Given the description of an element on the screen output the (x, y) to click on. 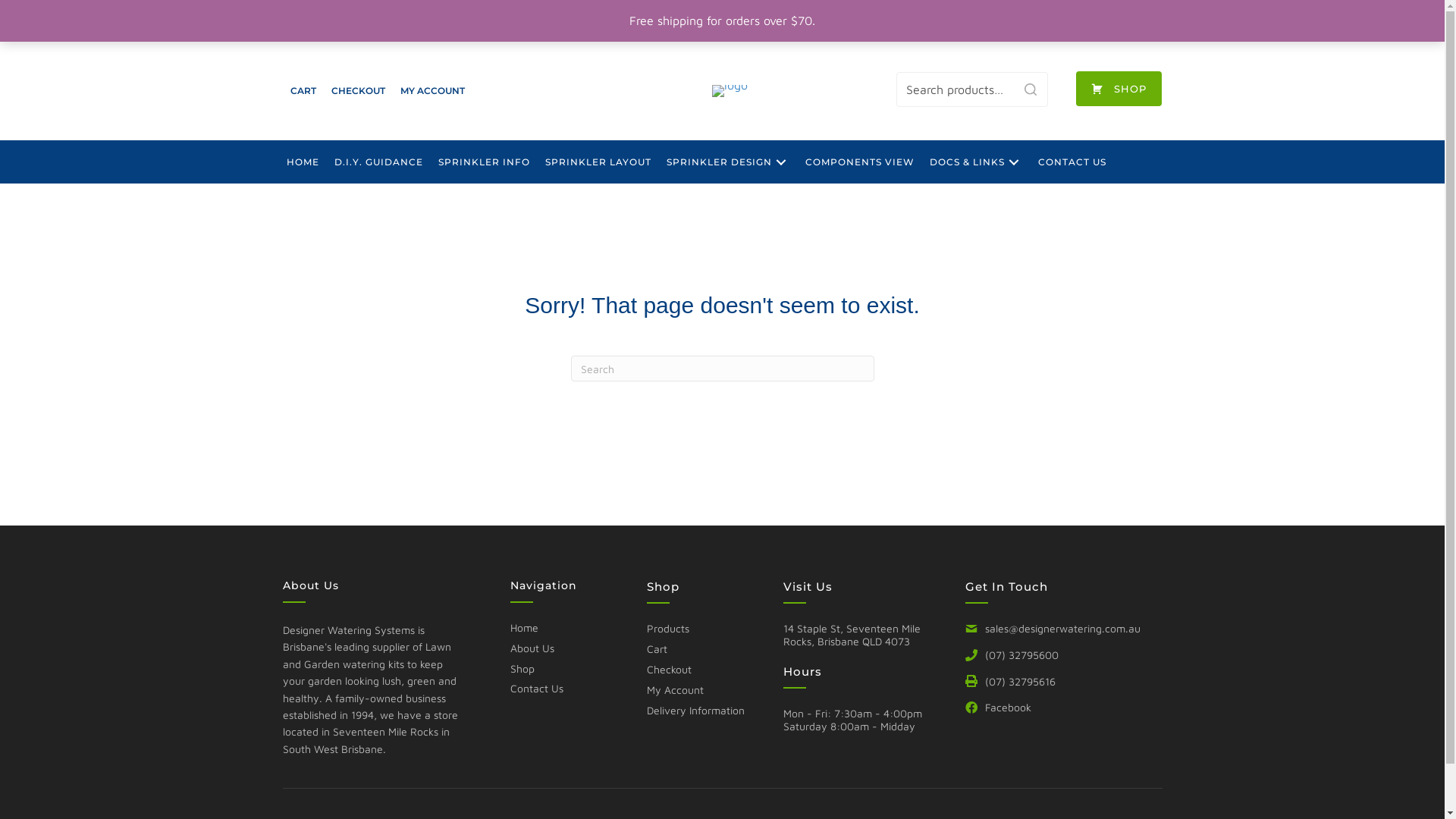
Checkout Element type: text (668, 668)
(07) 32795600 Element type: text (1010, 654)
SHOP Element type: text (1118, 88)
D.I.Y. GUIDANCE Element type: text (377, 161)
CHECKOUT Element type: text (357, 90)
CONTACT US Element type: text (1071, 161)
MY ACCOUNT Element type: text (432, 90)
DOCS & LINKS Element type: text (976, 161)
Search Element type: text (1030, 89)
logo Element type: hover (729, 90)
(07) 32795616 Element type: text (1009, 681)
sales@designerwatering.com.au Element type: text (1051, 628)
Type and press Enter to search. Element type: hover (721, 368)
Cart Element type: text (656, 648)
About Us Element type: text (531, 647)
Delivery Information Element type: text (694, 709)
CART Element type: text (302, 90)
Products Element type: text (667, 627)
My Account Element type: text (674, 689)
Contact Us Element type: text (535, 687)
Facebook Element type: text (997, 707)
SPRINKLER LAYOUT Element type: text (597, 161)
HOME Element type: text (302, 161)
Shop Element type: text (521, 668)
SPRINKLER DESIGN Element type: text (727, 161)
COMPONENTS VIEW Element type: text (859, 161)
Home Element type: text (523, 627)
SPRINKLER INFO Element type: text (483, 161)
